Given the description of an element on the screen output the (x, y) to click on. 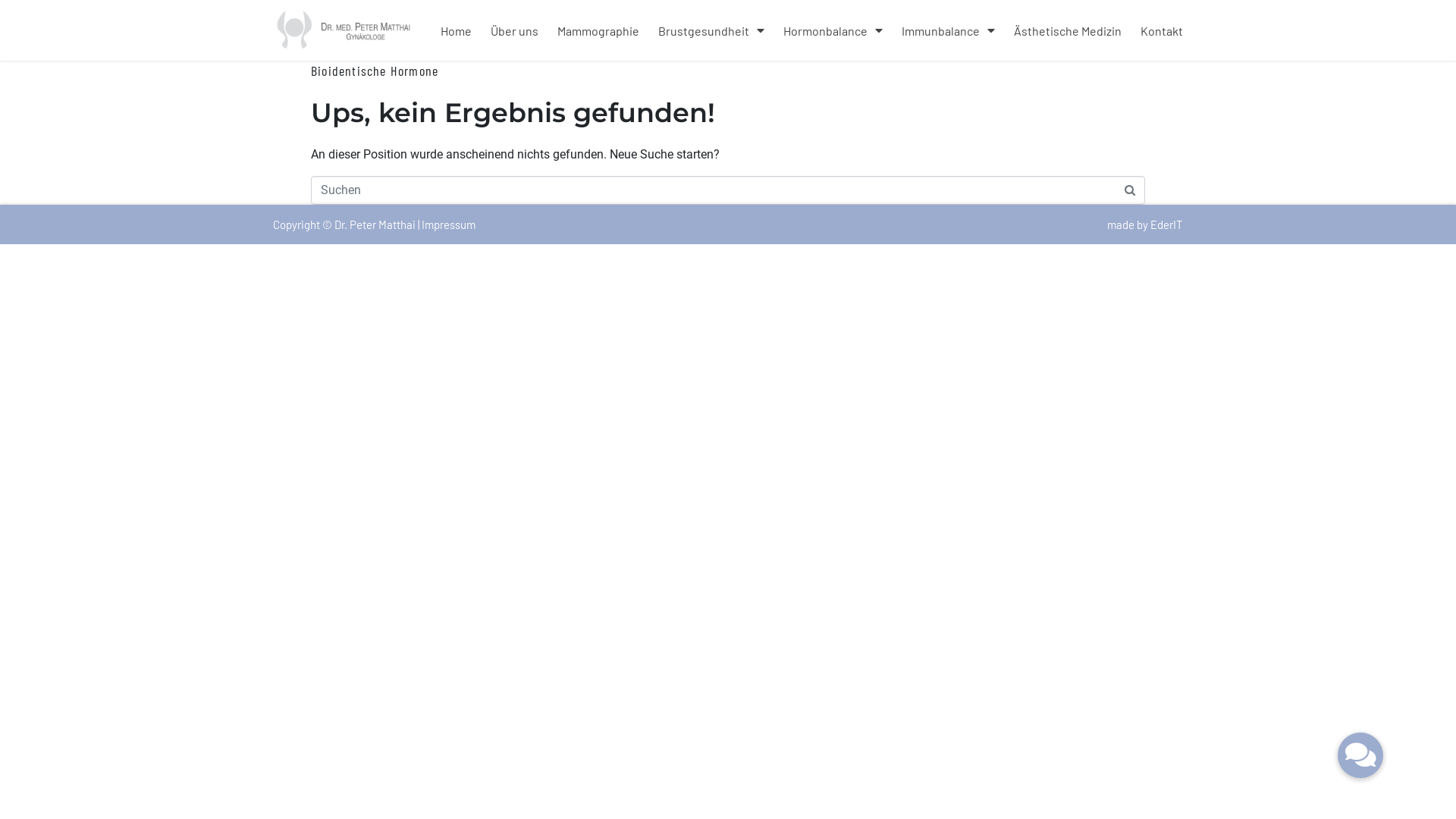
Immunbalance Element type: text (947, 29)
Bioidentische Hormone Element type: text (374, 70)
Kontakt Element type: text (1161, 29)
Home Element type: text (455, 29)
Brustgesundheit Element type: text (711, 29)
Impressum Element type: text (448, 223)
Mammographie Element type: text (598, 29)
EderIT Element type: text (1166, 223)
Hormonbalance Element type: text (832, 29)
